Given the description of an element on the screen output the (x, y) to click on. 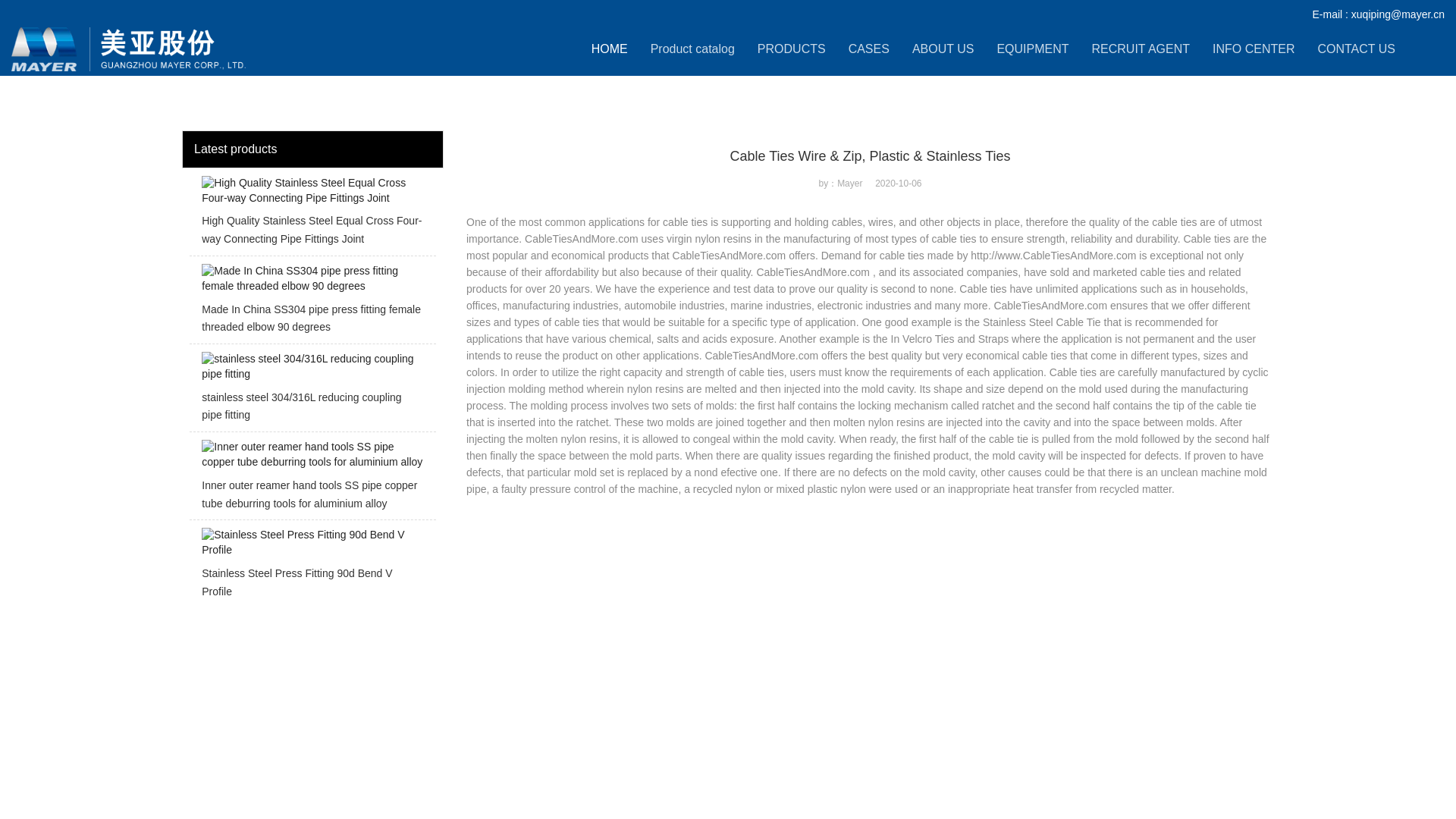
E-mail : (1331, 14)
ABOUT US (943, 49)
PRODUCTS (791, 49)
INFO CENTER (1253, 49)
CONTACT US (1355, 49)
EQUIPMENT (1031, 49)
RECRUIT AGENT (1141, 49)
Product catalog (692, 49)
